Given the description of an element on the screen output the (x, y) to click on. 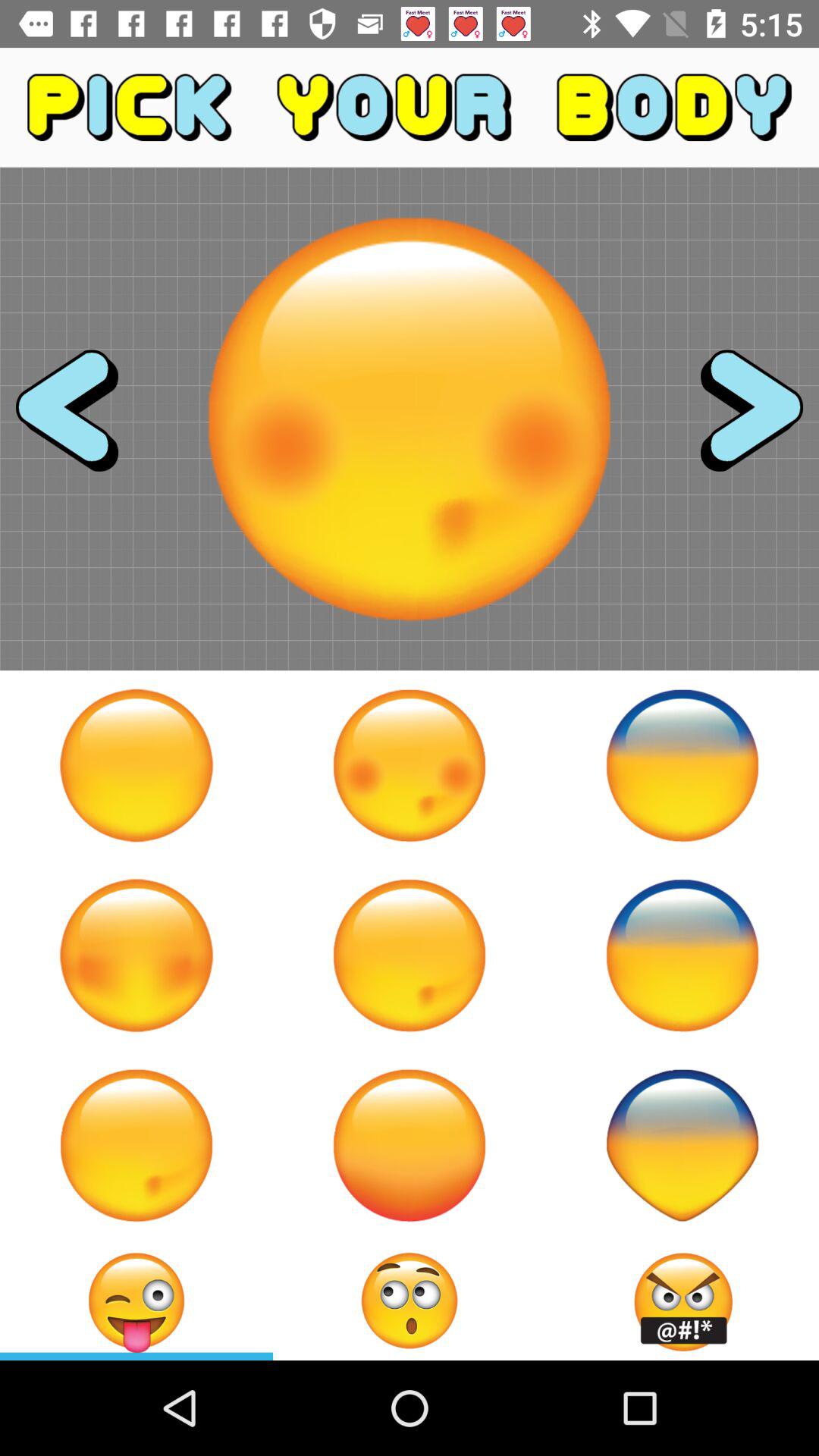
choose picture (409, 765)
